Given the description of an element on the screen output the (x, y) to click on. 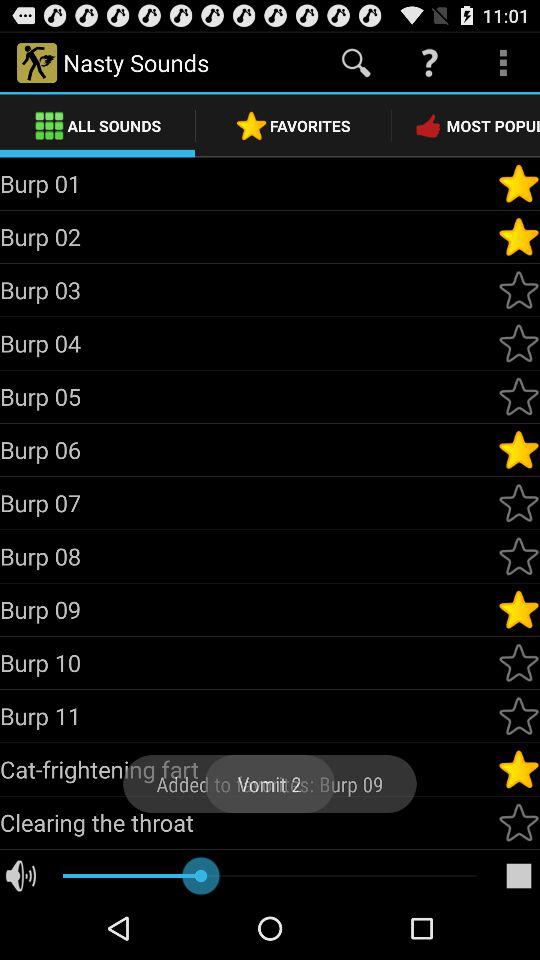
mark as favourite (519, 450)
